Given the description of an element on the screen output the (x, y) to click on. 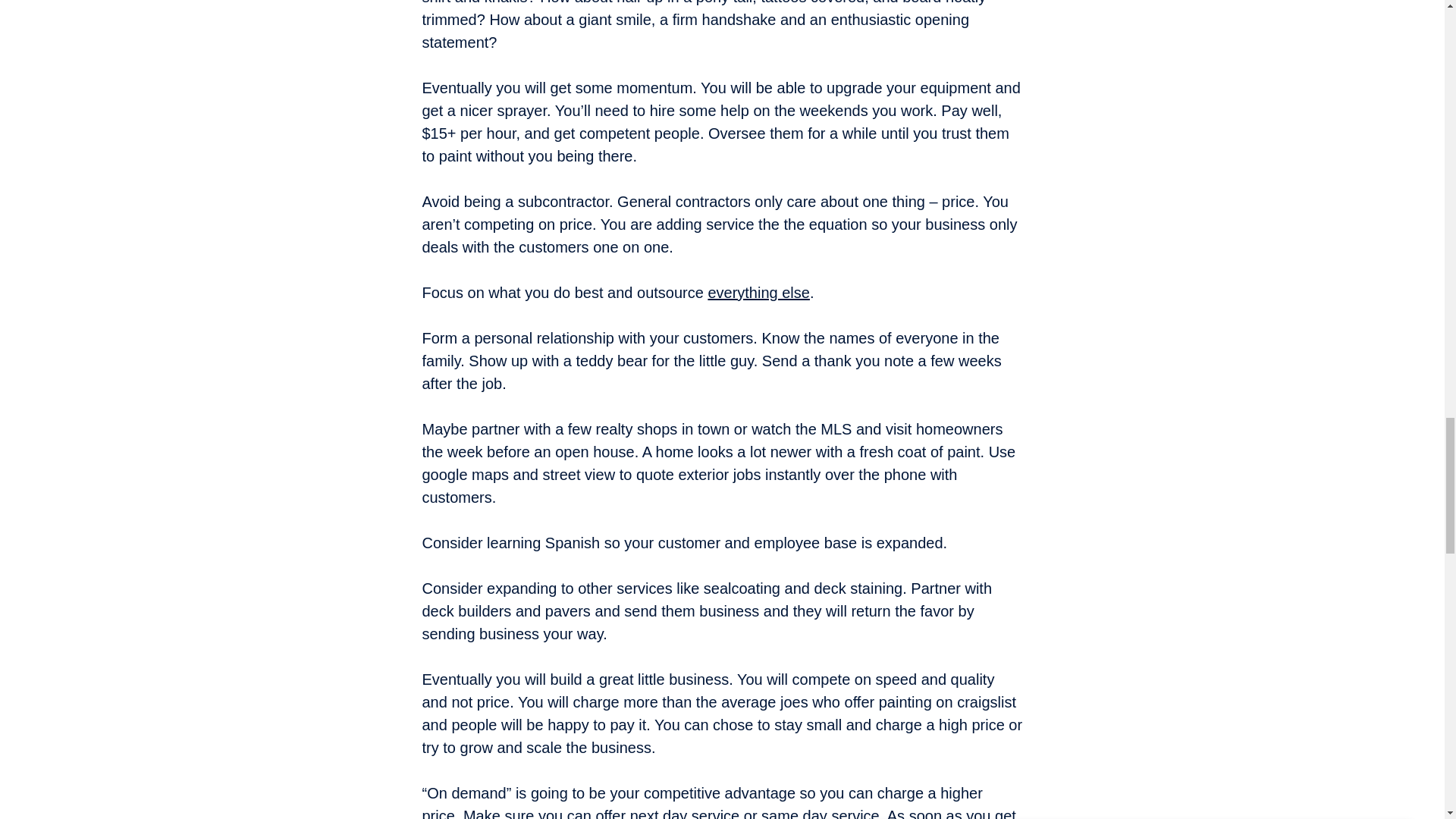
everything else (758, 292)
